Given the description of an element on the screen output the (x, y) to click on. 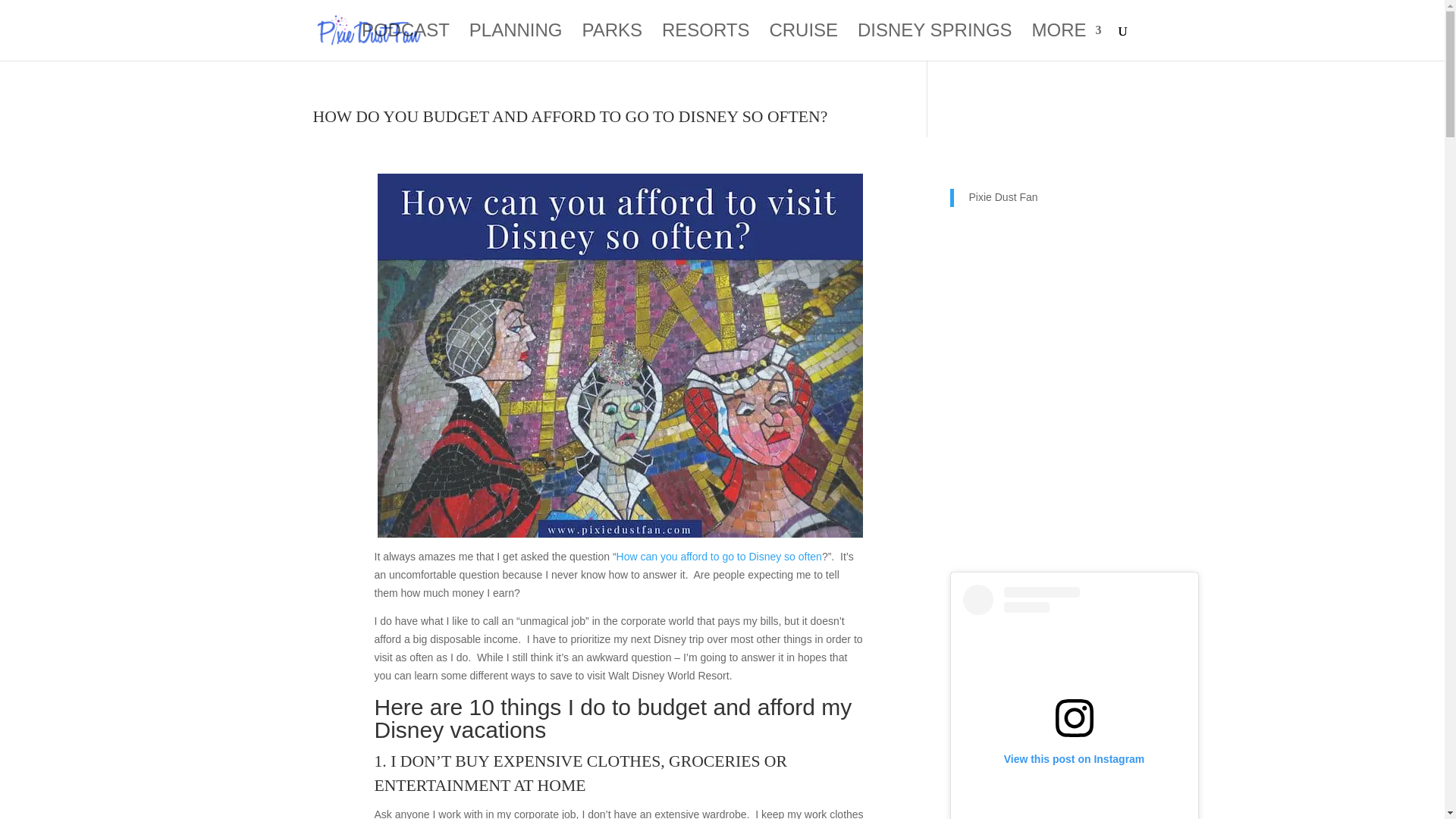
CRUISE (803, 42)
View this post on Instagram (1074, 701)
MORE (1065, 42)
Pixie Dust Fan (1003, 196)
RESORTS (705, 42)
HOW DO YOU BUDGET AND AFFORD TO GO TO DISNEY SO OFTEN? (570, 116)
PODCAST (405, 42)
PARKS (611, 42)
PLANNING (515, 42)
DISNEY SPRINGS (934, 42)
How can you afford to go to Disney so often (718, 556)
